Given the description of an element on the screen output the (x, y) to click on. 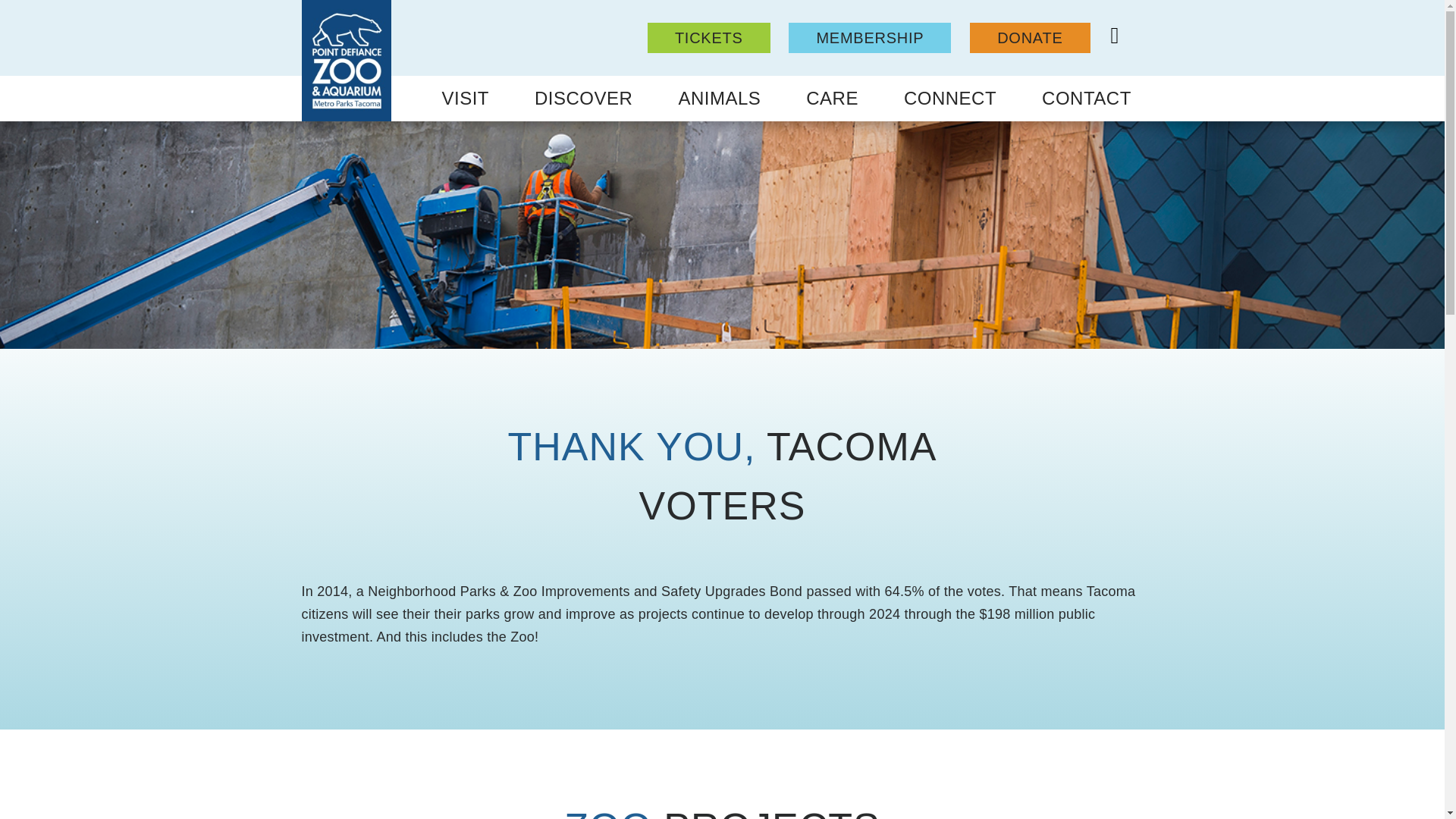
CARE (831, 98)
ANIMALS (719, 98)
DISCOVER (583, 98)
VISIT (465, 98)
